Given the description of an element on the screen output the (x, y) to click on. 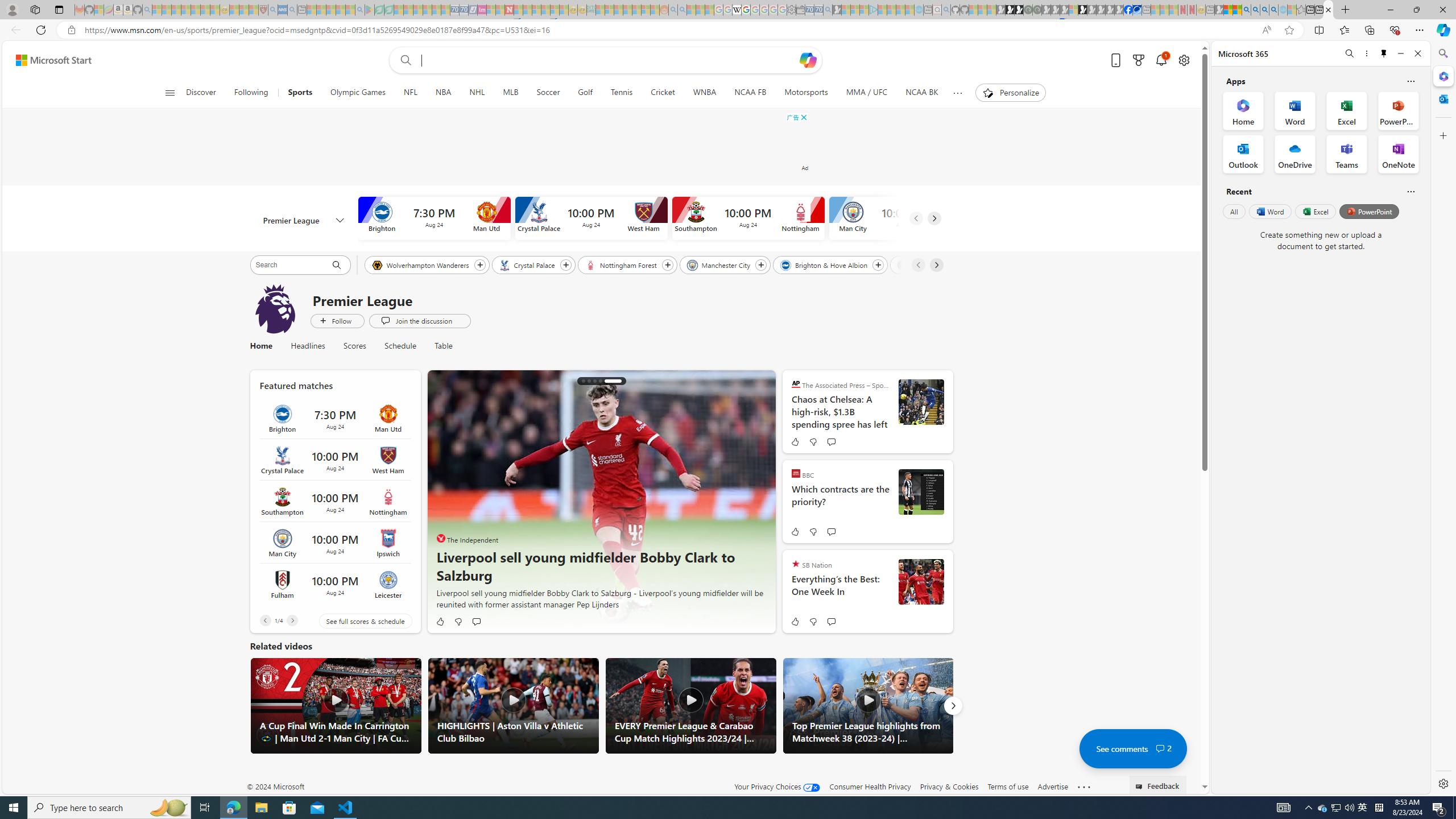
Which contracts are the priority? (920, 491)
NBA (443, 92)
Follow Nottingham Forest (666, 265)
Motorsports (806, 92)
